Given the description of an element on the screen output the (x, y) to click on. 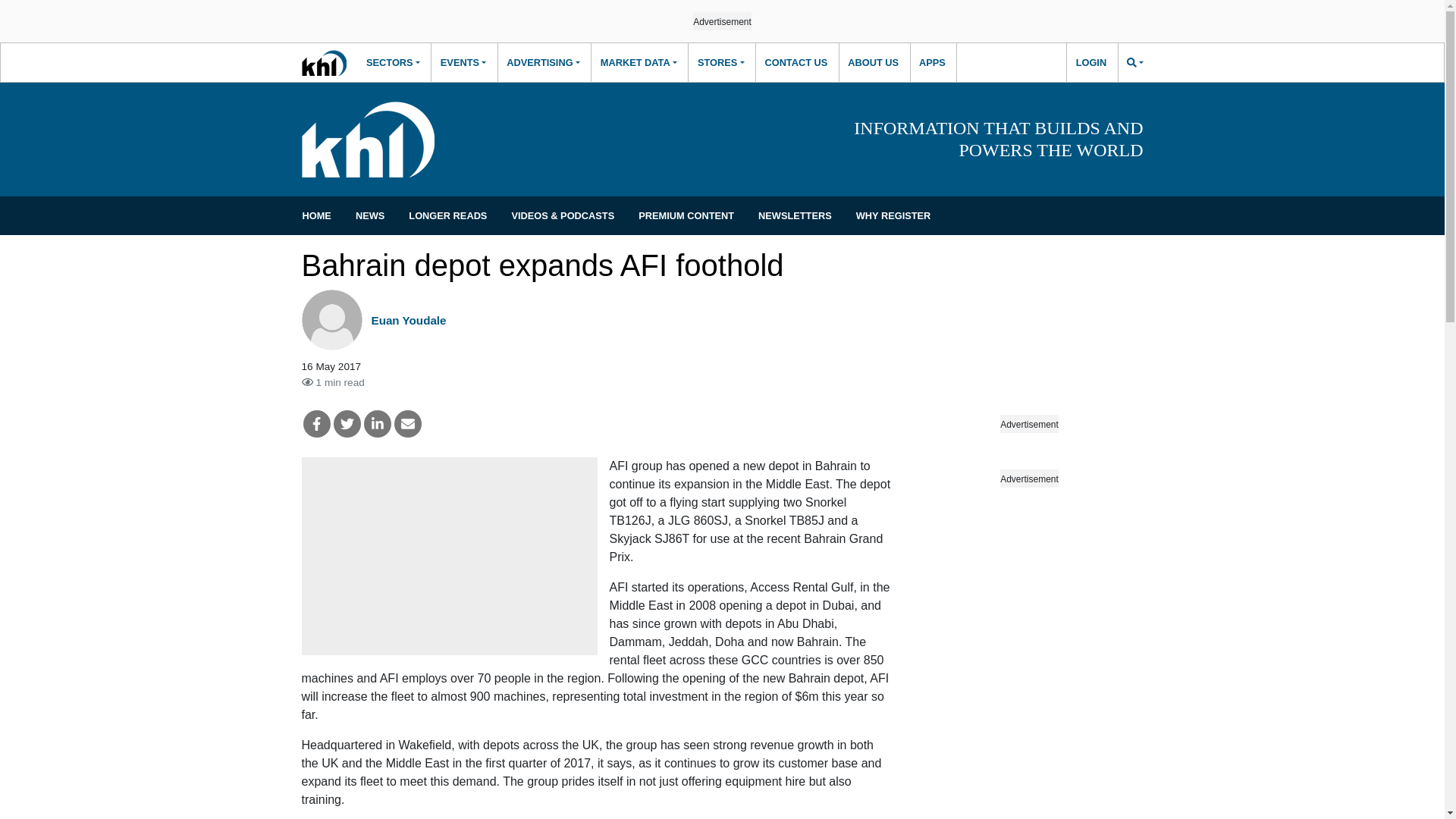
Share this page on Twitter (347, 423)
Share this page on Linkedin (377, 423)
Share this page via email (408, 423)
Share this page on Facebook (316, 423)
